Given the description of an element on the screen output the (x, y) to click on. 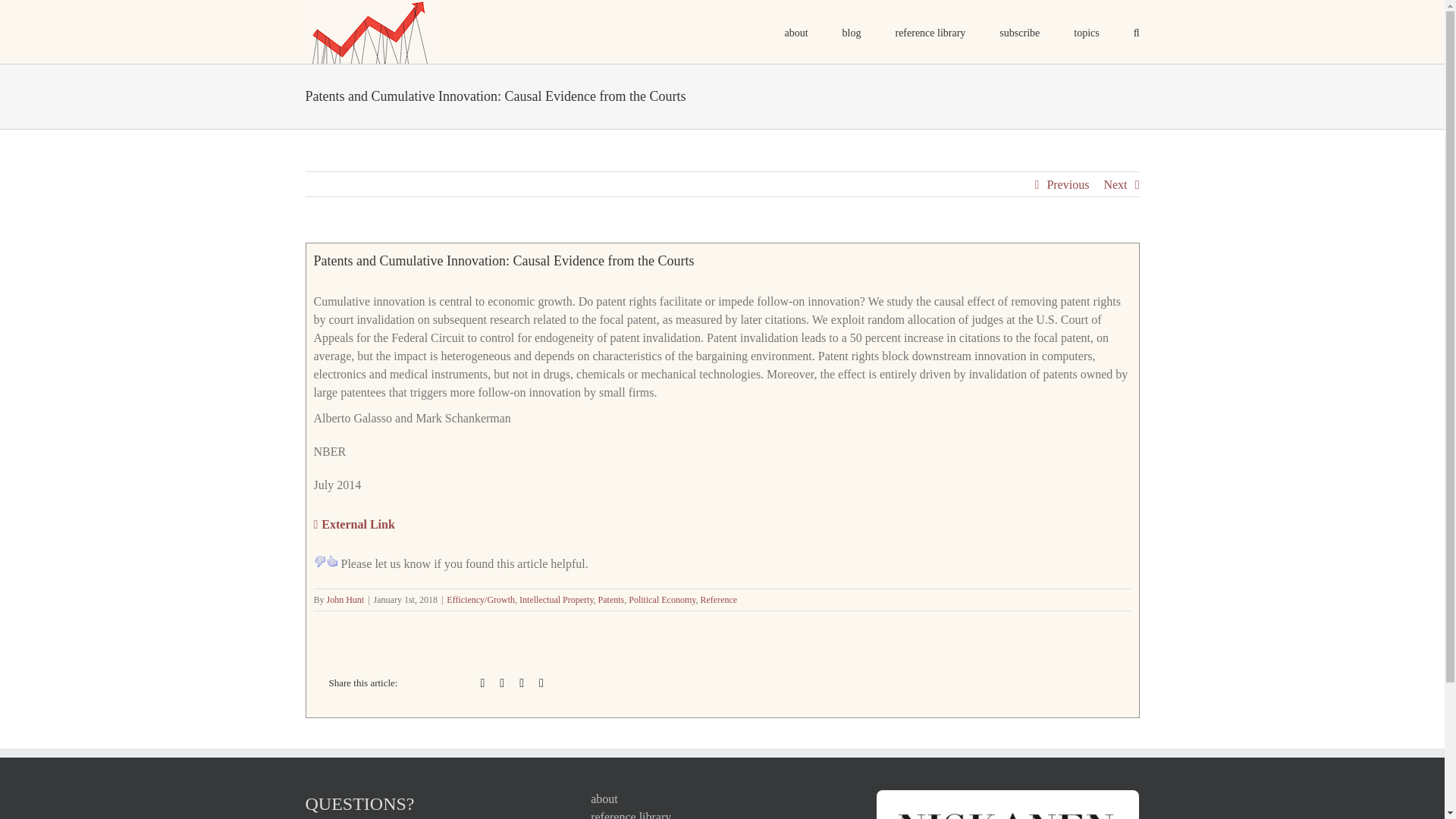
External Link (354, 524)
Political Economy (661, 599)
This was helpful. (331, 561)
Previous (1067, 184)
Patents (611, 599)
reference library (930, 31)
reference library (722, 813)
Reference (719, 599)
Intellectual Property (556, 599)
John Hunt (345, 599)
